Given the description of an element on the screen output the (x, y) to click on. 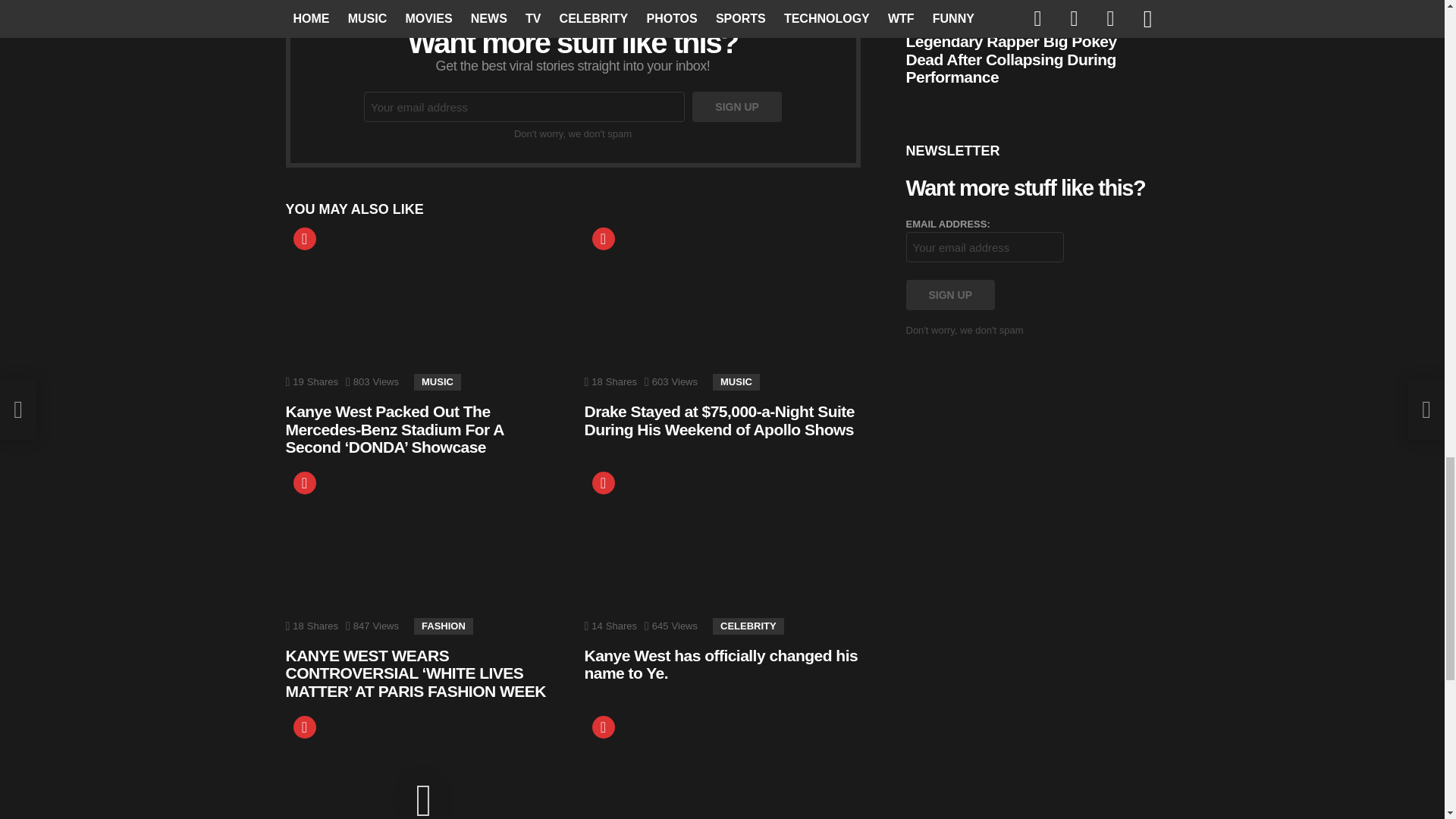
Trending (602, 238)
Trending (303, 238)
Trending (303, 238)
Sign up (737, 106)
Trending (303, 482)
Sign up (949, 295)
Sign up (737, 106)
Trending (602, 482)
